Given the description of an element on the screen output the (x, y) to click on. 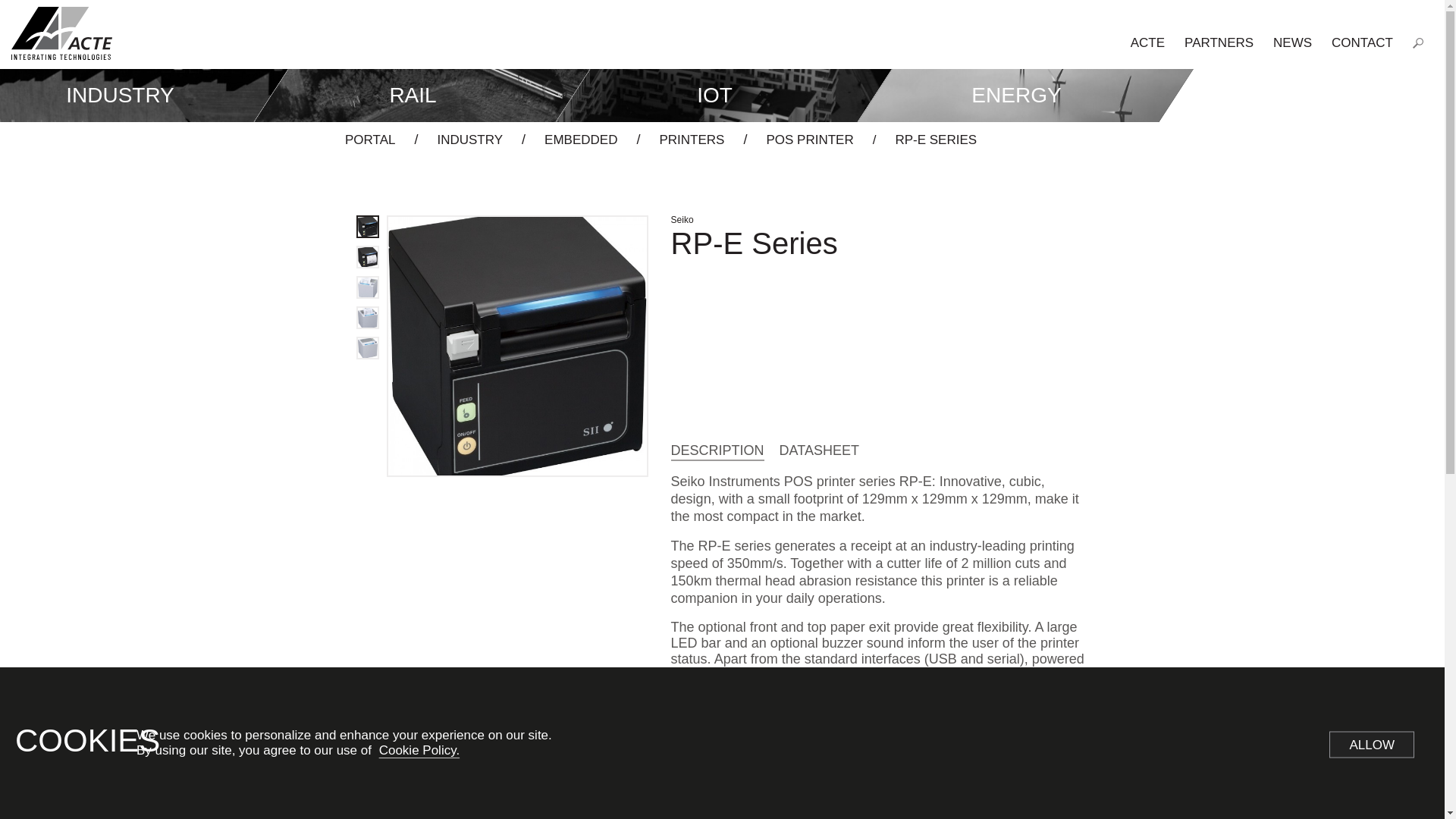
PRINTERS (691, 139)
POS PRINTER (809, 139)
EMBEDDED (580, 139)
RAIL (403, 95)
NEWS (1292, 42)
IOT (706, 95)
PORTAL (369, 139)
INDUSTRY (469, 139)
CONTACT (1361, 42)
PARTNERS (1218, 42)
ACTE (1147, 42)
ENERGY (1007, 95)
INDUSTRY (126, 95)
